Given the description of an element on the screen output the (x, y) to click on. 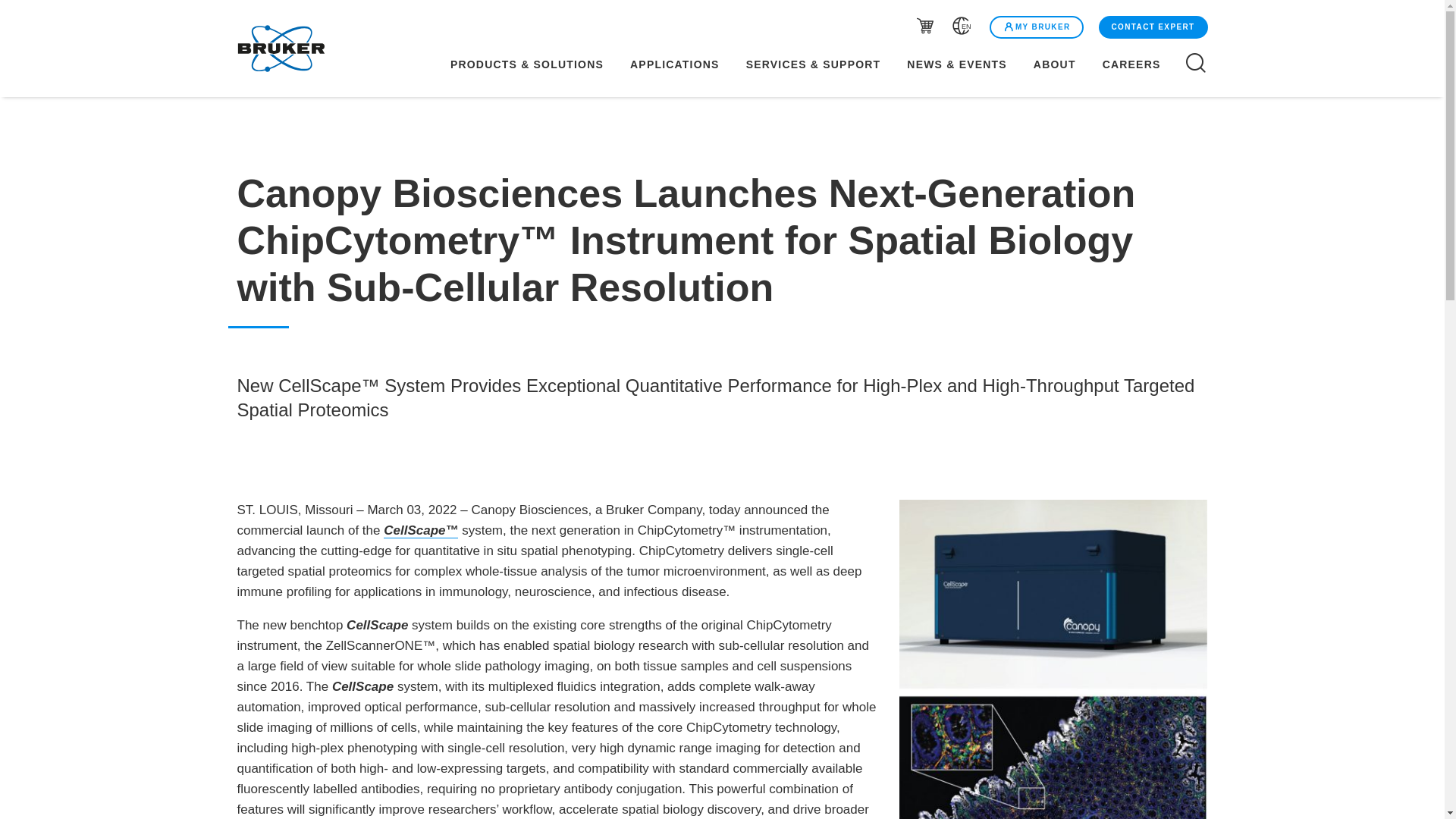
CONTACT EXPERT (1151, 27)
ABOUT (1054, 64)
CONTACT EXPERT (1153, 26)
MY BRUKER (1036, 26)
CAREERS (1141, 64)
APPLICATIONS (674, 64)
